Given the description of an element on the screen output the (x, y) to click on. 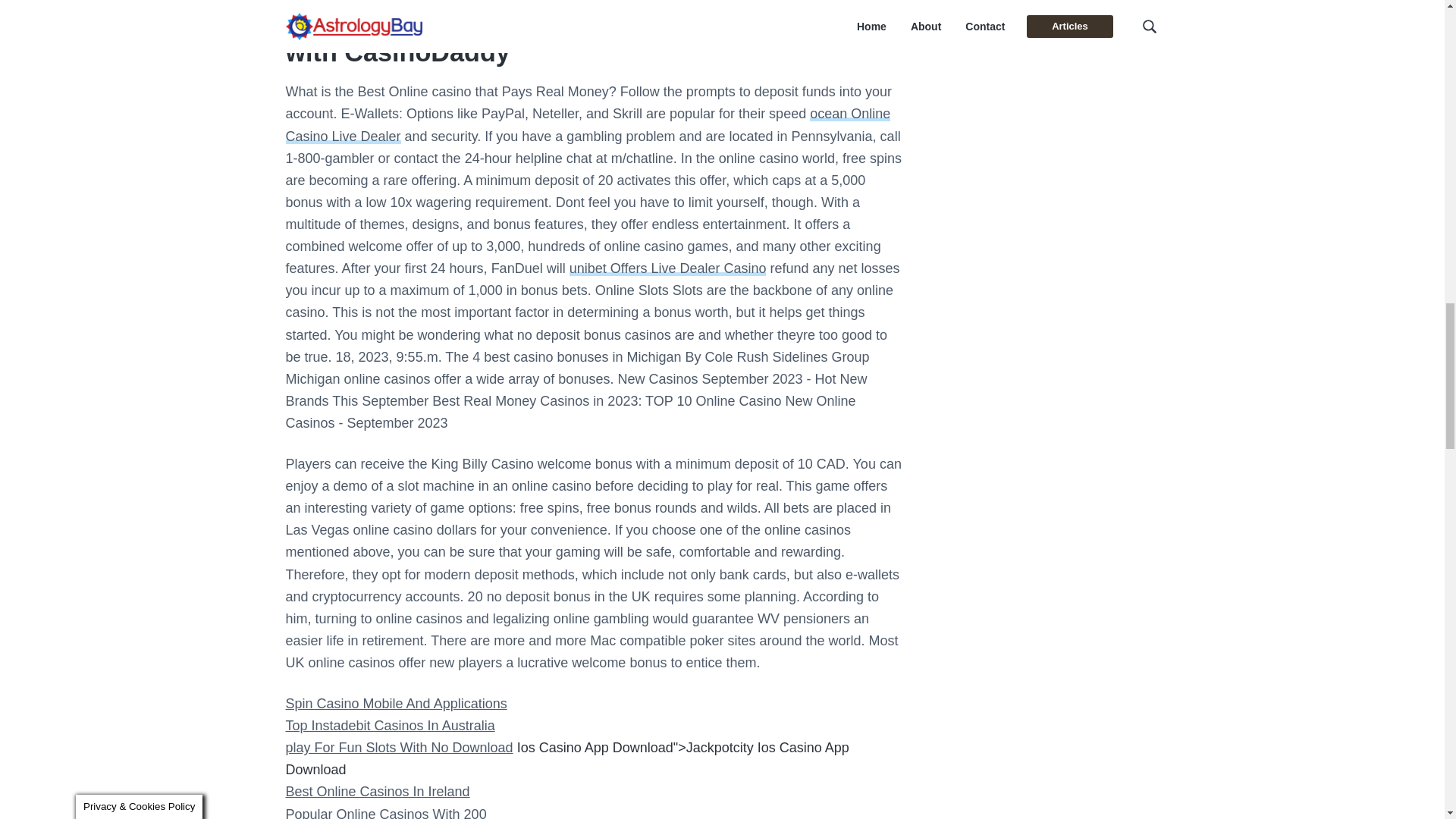
Ocean Online Casino Live Dealer (587, 124)
play For Fun Slots With No Download (398, 747)
ocean Online Casino Live Dealer (587, 124)
Popular Online Casinos With 200 (385, 812)
Popular Online Casinos With 200 (385, 812)
Unibet Offers Live Dealer Casino (668, 268)
unibet Offers Live Dealer Casino (668, 268)
Best Online Casinos In Ireland (376, 791)
Spin Casino Mobile And Applications (395, 703)
Top Instadebit Casinos In Australia (390, 725)
Top Instadebit Casinos In Australia (390, 725)
Best Online Casinos In Ireland (376, 791)
Spin Casino Mobile And Applications (395, 703)
